Given the description of an element on the screen output the (x, y) to click on. 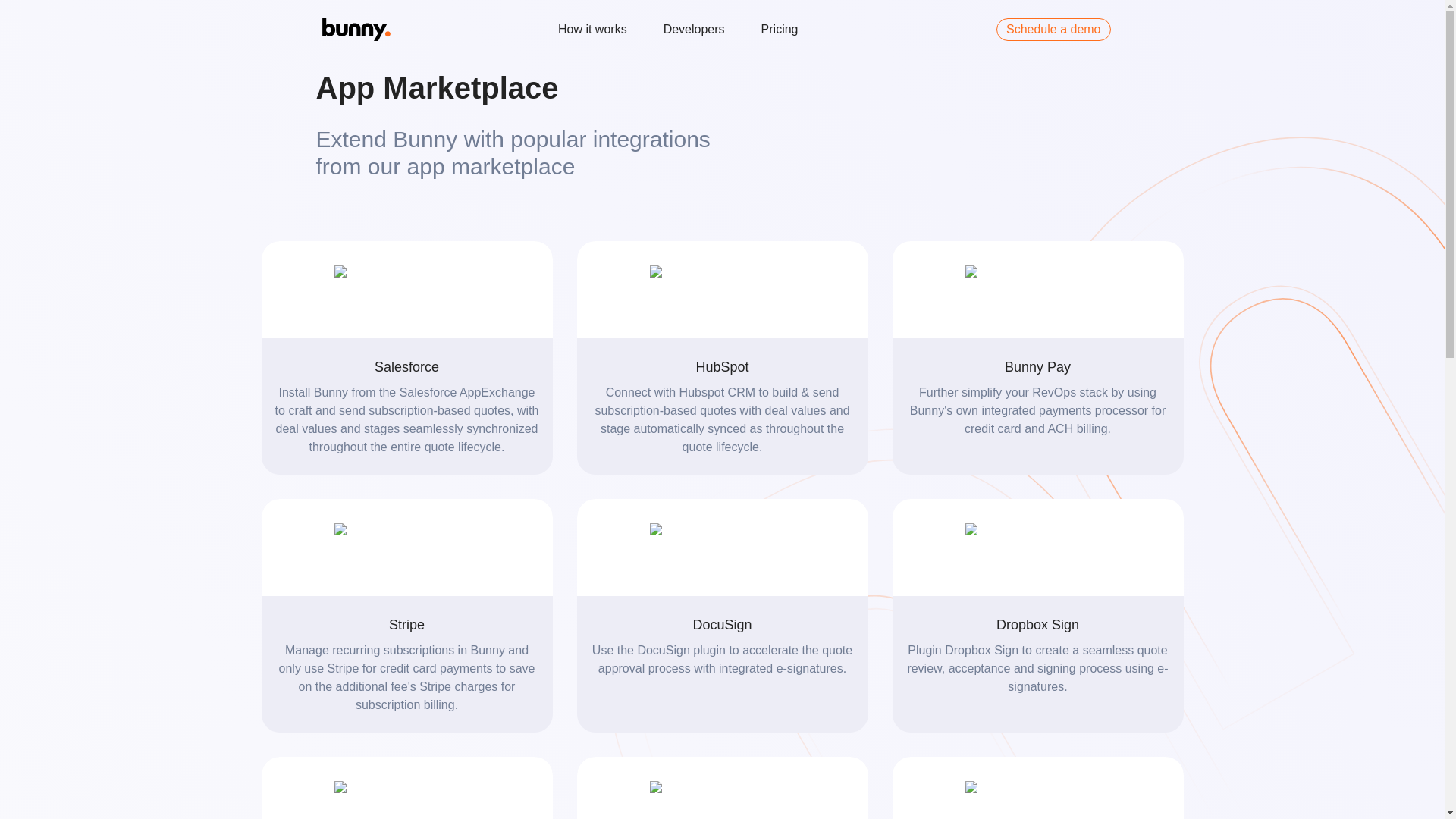
How it works (592, 29)
Schedule a demo (1052, 29)
Pricing (779, 29)
Developers (694, 29)
